Given the description of an element on the screen output the (x, y) to click on. 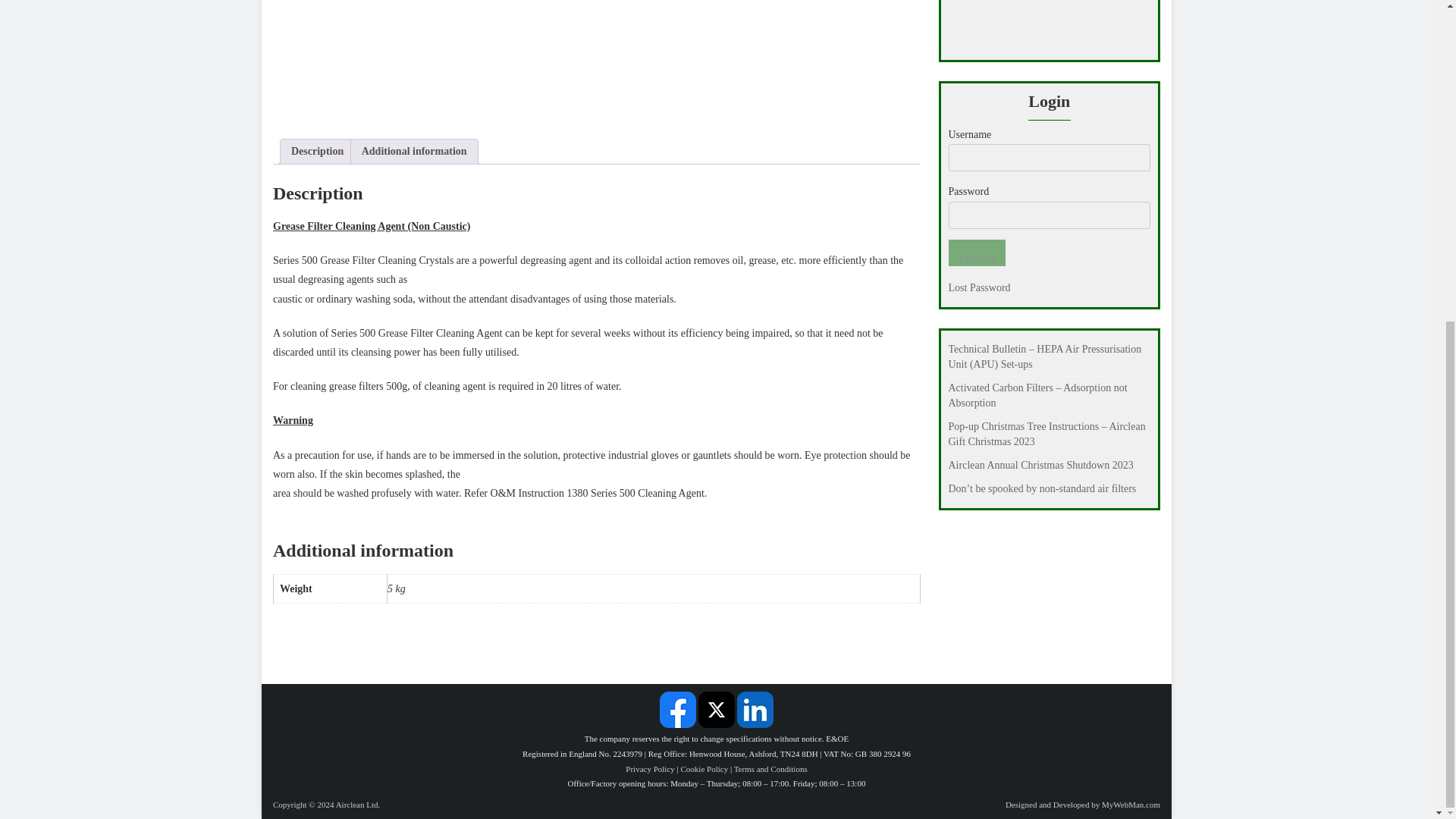
Log In (975, 252)
